Given the description of an element on the screen output the (x, y) to click on. 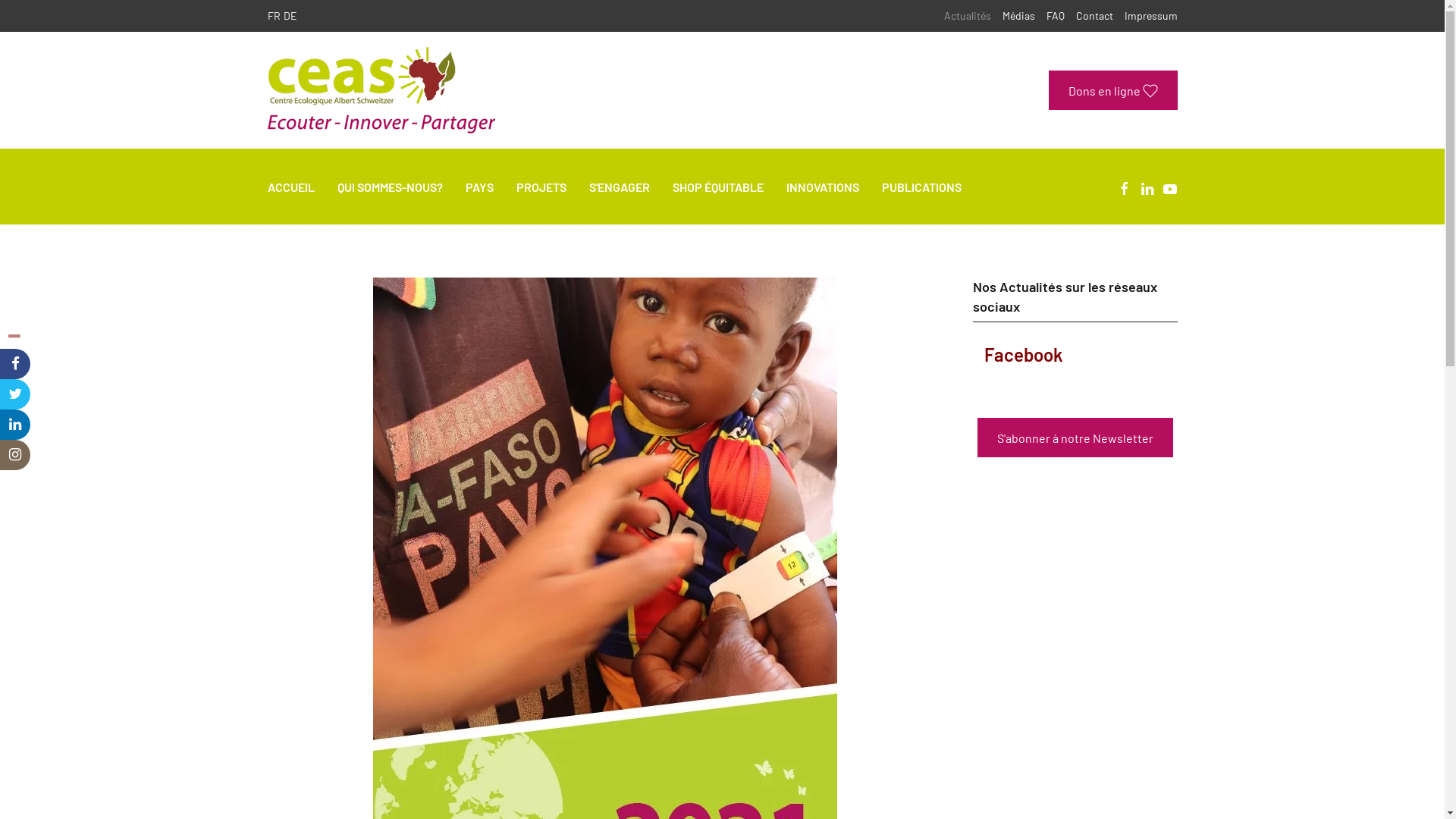
FAQ Element type: text (1055, 15)
QUI SOMMES-NOUS? Element type: text (389, 186)
PROJETS Element type: text (540, 186)
FR Element type: text (272, 15)
PUBLICATIONS Element type: text (920, 186)
INNOVATIONS Element type: text (821, 186)
S'ENGAGER Element type: text (618, 186)
Hide/Show Element type: hover (13, 336)
DE Element type: text (289, 15)
PAYS Element type: text (479, 186)
Contact Element type: text (1093, 15)
Dons en ligne Element type: text (1112, 89)
Impressum Element type: text (1149, 15)
ACCUEIL Element type: text (289, 186)
Facebook Element type: text (1023, 354)
